Given the description of an element on the screen output the (x, y) to click on. 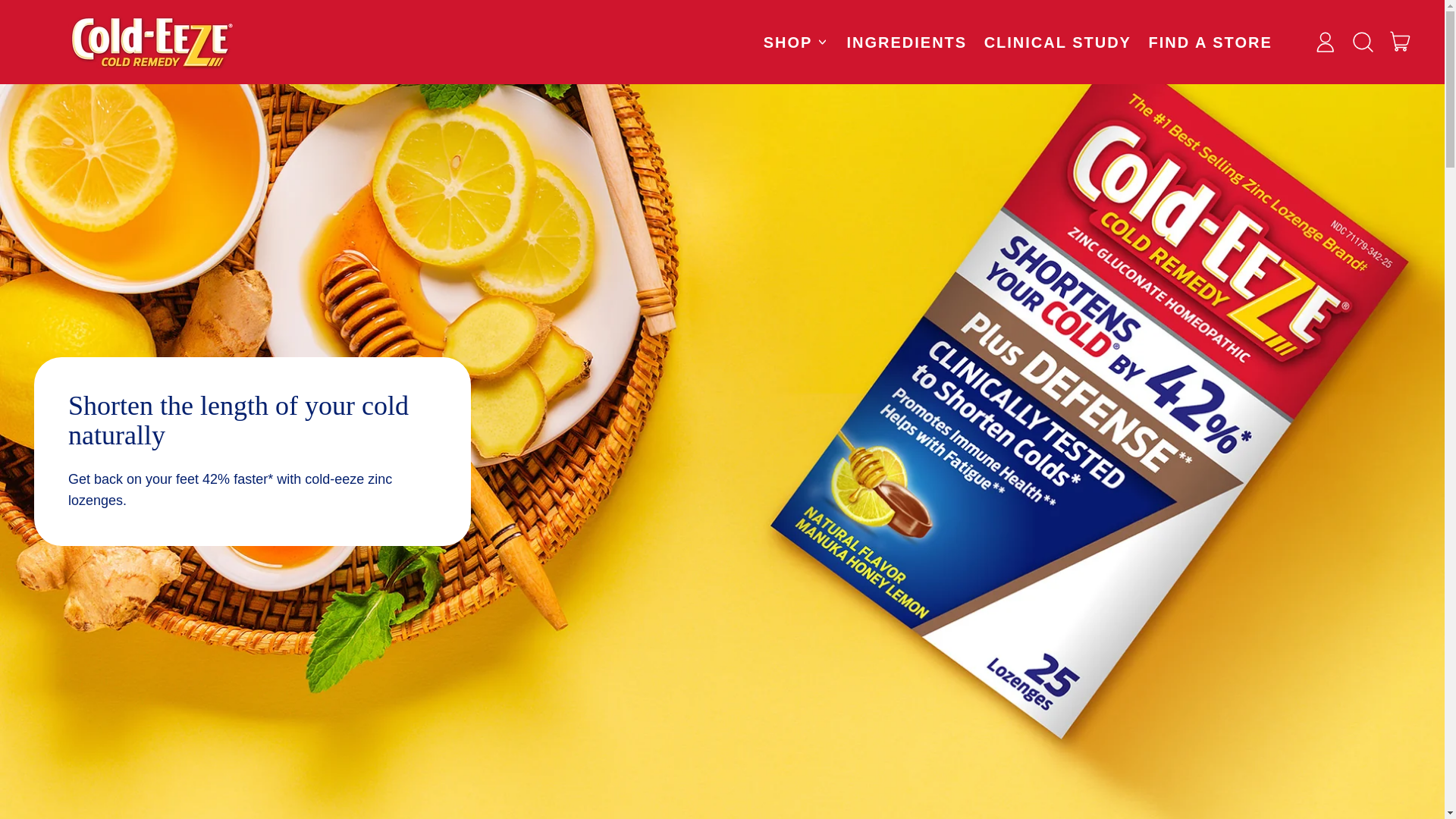
FIND A STORE (1210, 42)
Log in (1324, 41)
CLINICAL STUDY (1057, 42)
Search our site (1362, 41)
SHOP (796, 42)
INGREDIENTS (906, 42)
